Given the description of an element on the screen output the (x, y) to click on. 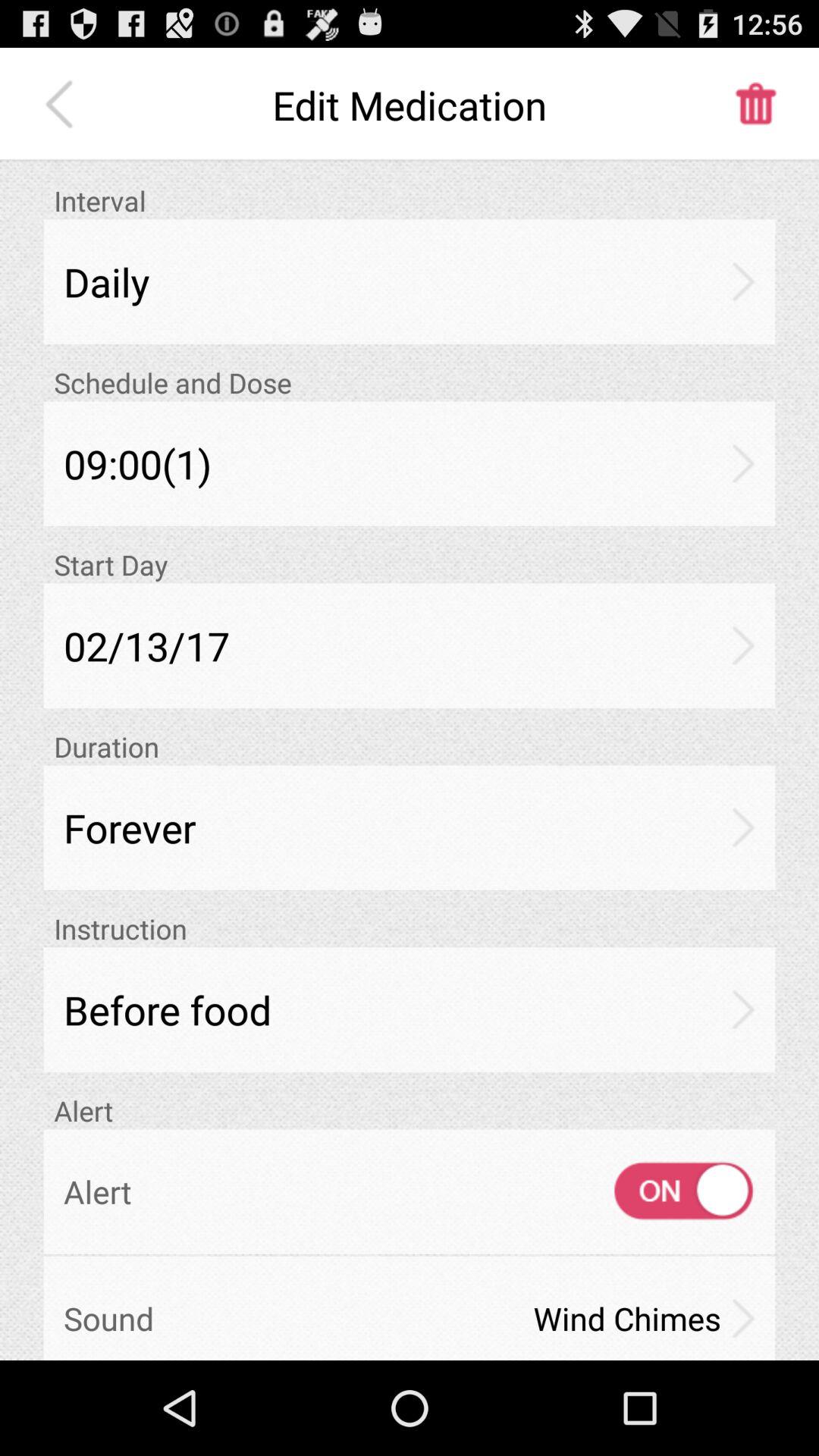
open app above alert item (409, 1009)
